Given the description of an element on the screen output the (x, y) to click on. 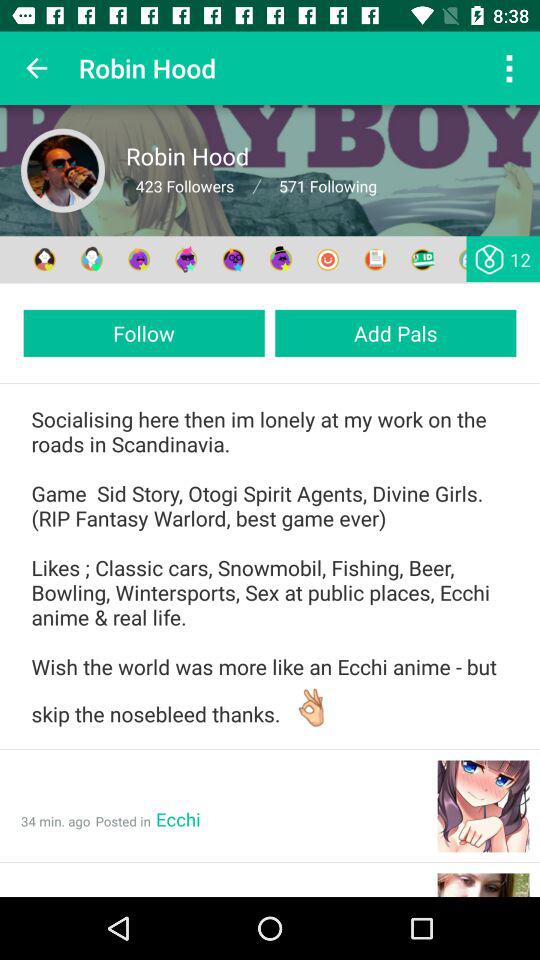
swipe to the add pals item (395, 332)
